Given the description of an element on the screen output the (x, y) to click on. 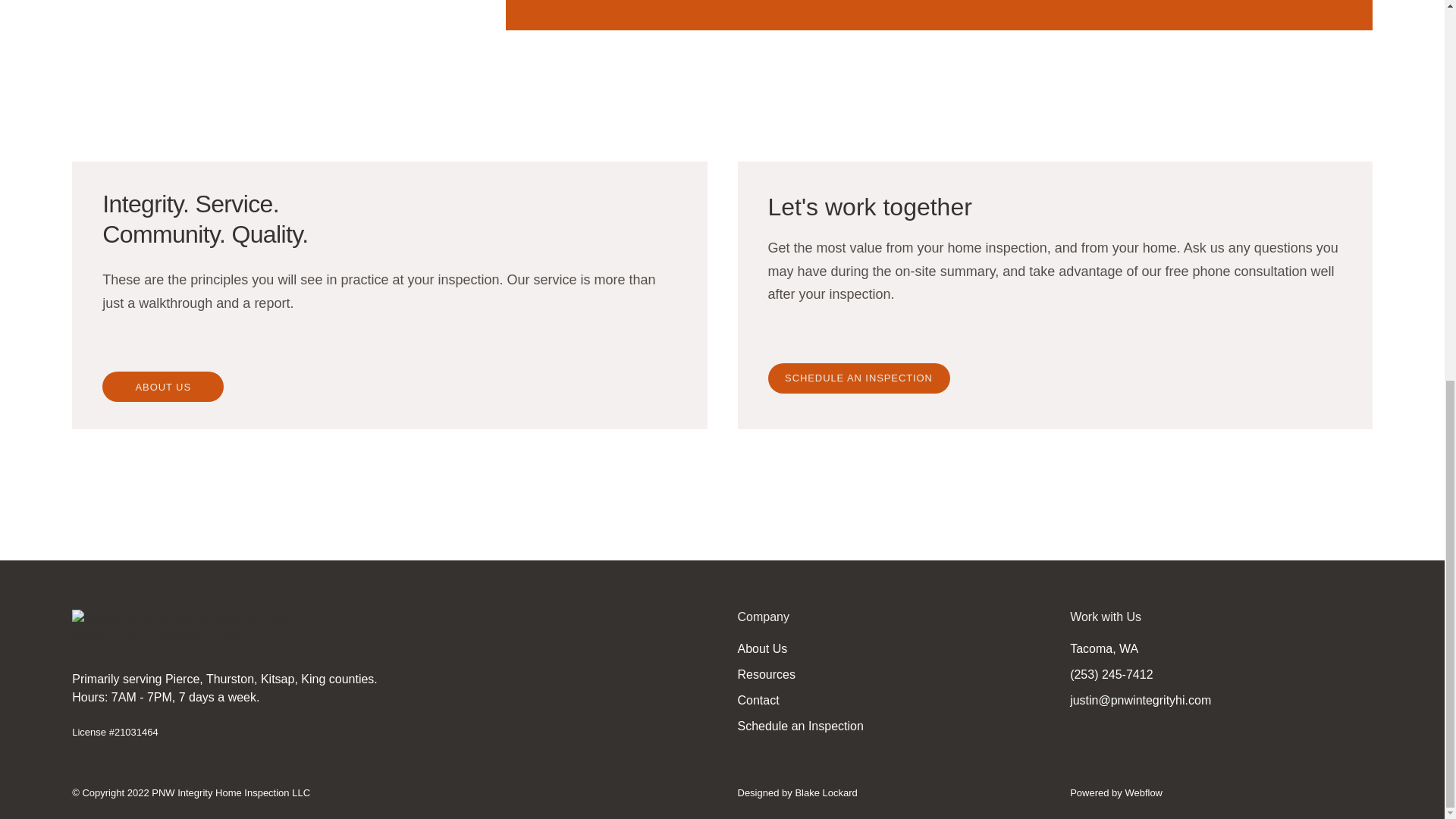
About Us (761, 648)
Tacoma, WA (1104, 648)
SCHEDULE AN INSPECTION (858, 378)
Schedule an Inspection (799, 726)
Resources (765, 674)
Designed by Blake Lockard (796, 792)
Contact (757, 700)
ABOUT US (162, 386)
Powered by Webflow (1115, 792)
